Given the description of an element on the screen output the (x, y) to click on. 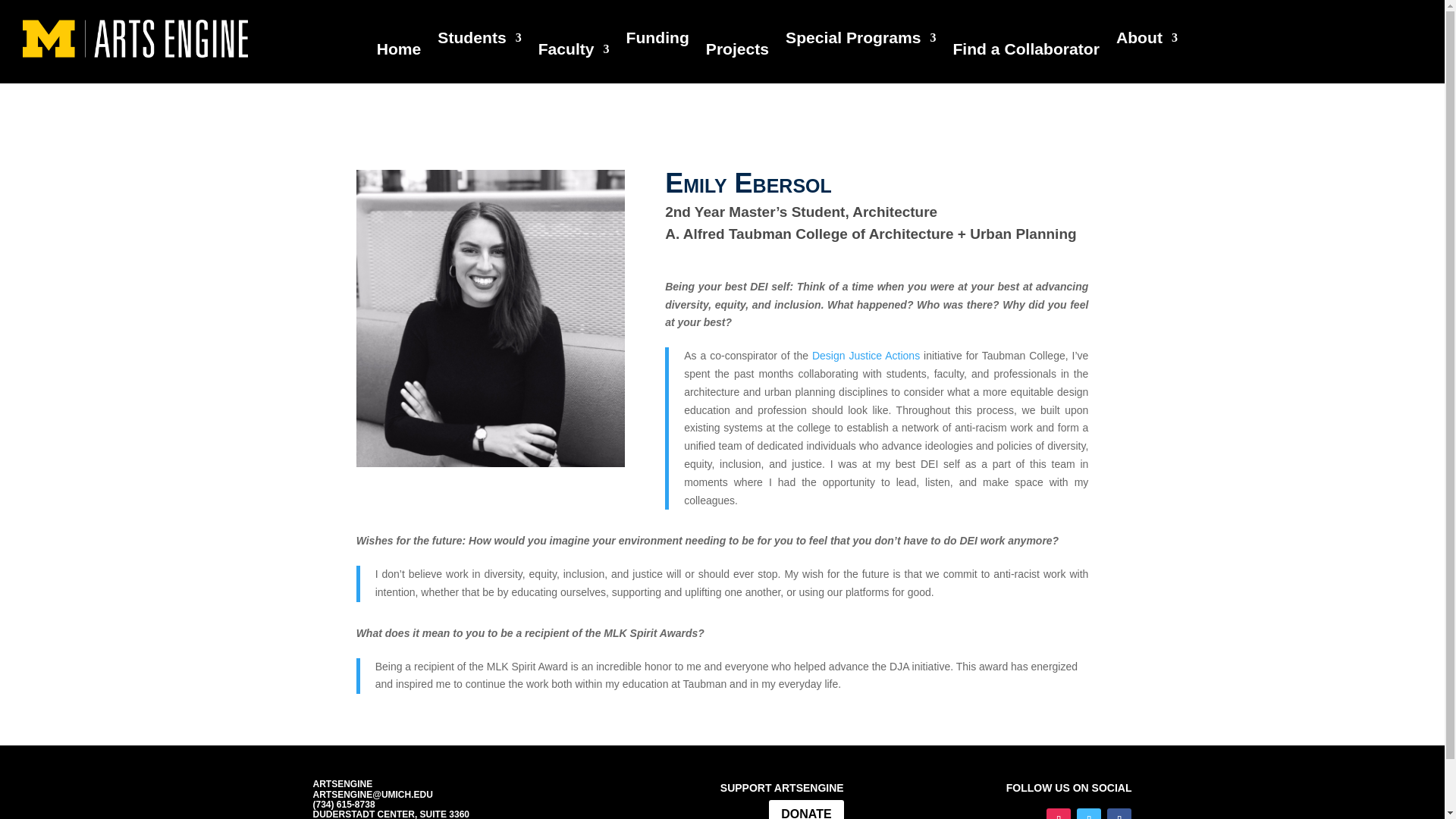
Projects (737, 52)
Special Programs (861, 40)
Follow on Vimeo (1088, 813)
Students (479, 40)
Home (399, 52)
Faculty (574, 52)
Funding (657, 40)
Find a Collaborator (1025, 52)
Follow on Instagram (1058, 813)
Follow on Facebook (1118, 813)
